Given the description of an element on the screen output the (x, y) to click on. 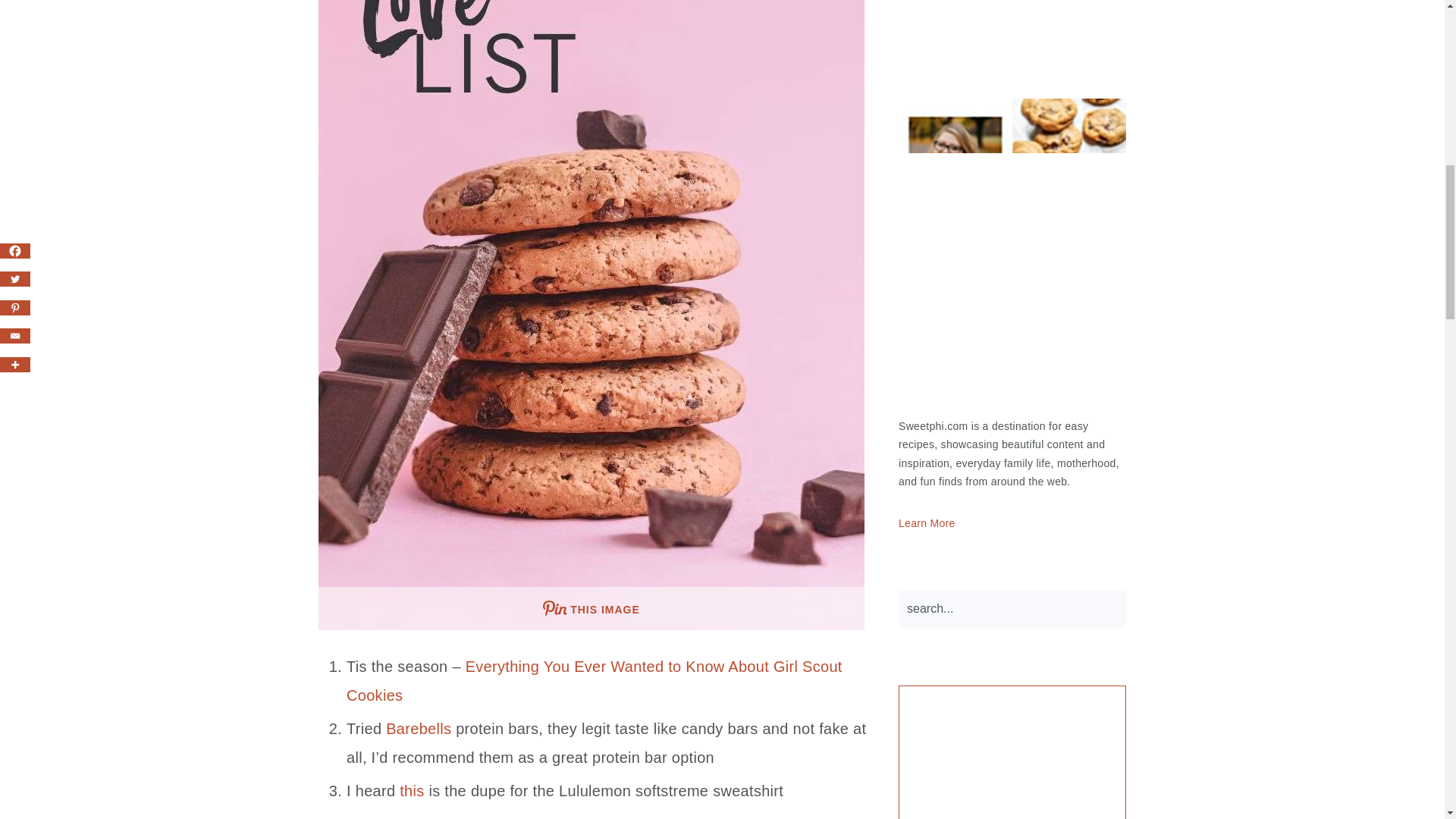
Everything You Ever Wanted to Know About Girl Scout Cookies (594, 680)
THIS IMAGE (591, 608)
this (410, 790)
Barebells (418, 728)
